Given the description of an element on the screen output the (x, y) to click on. 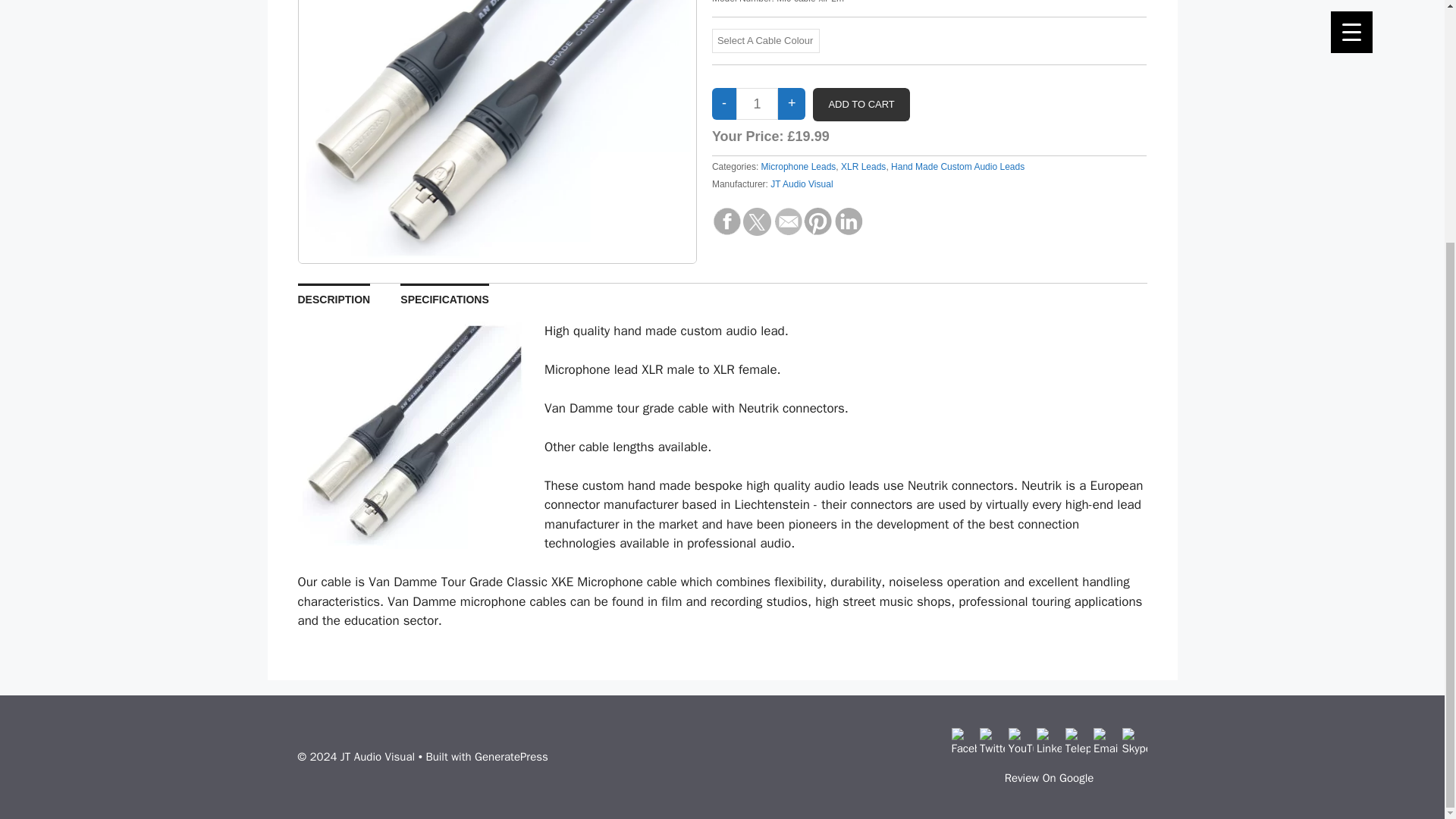
Twitter (991, 740)
Facebook (962, 740)
LinkedIn (1048, 740)
1 (756, 103)
Skype (1134, 740)
YouTube (1021, 740)
ADD TO CART (860, 104)
Telephone (1076, 740)
Email (1105, 740)
